Given the description of an element on the screen output the (x, y) to click on. 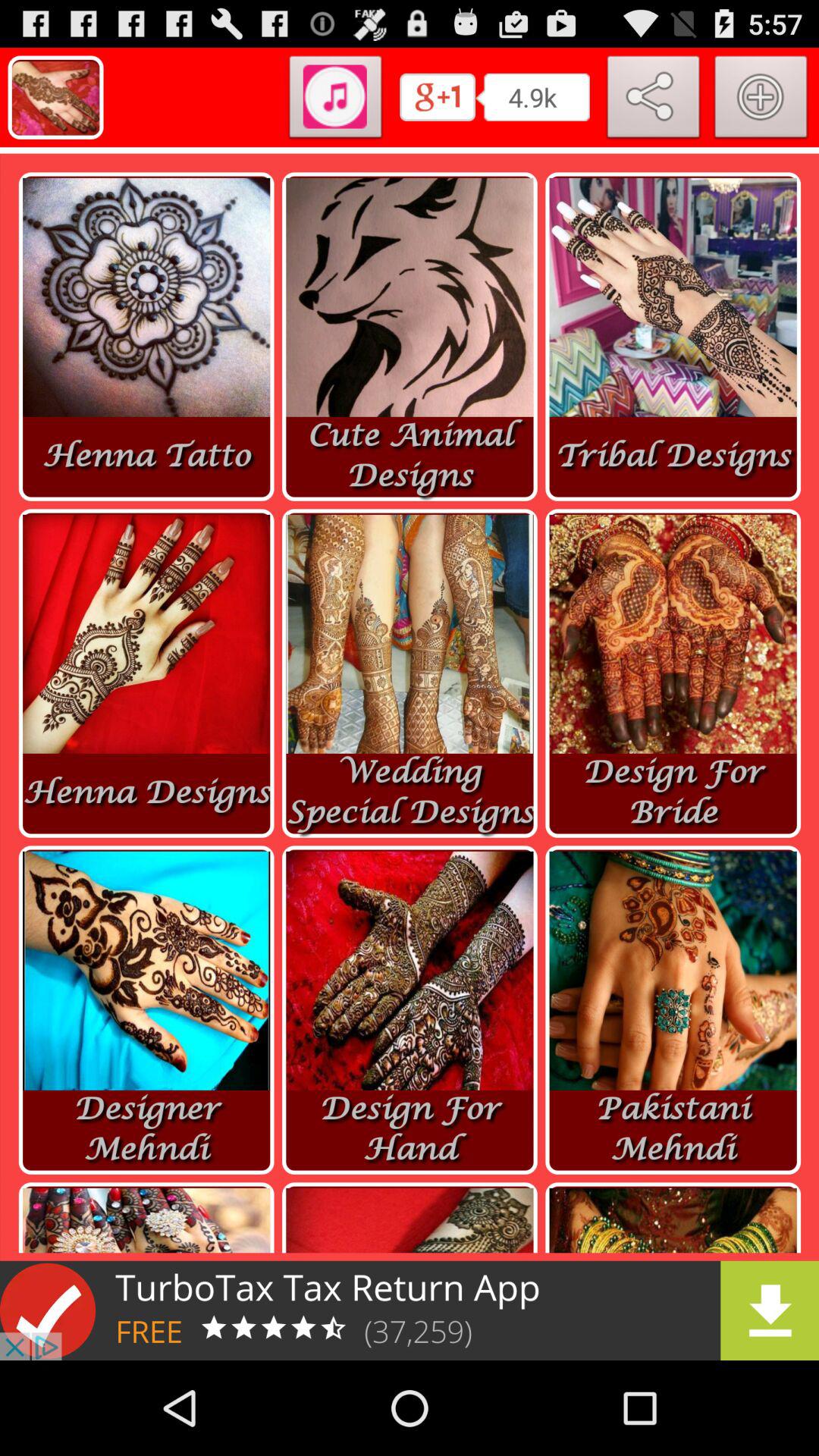
share this (653, 100)
